Given the description of an element on the screen output the (x, y) to click on. 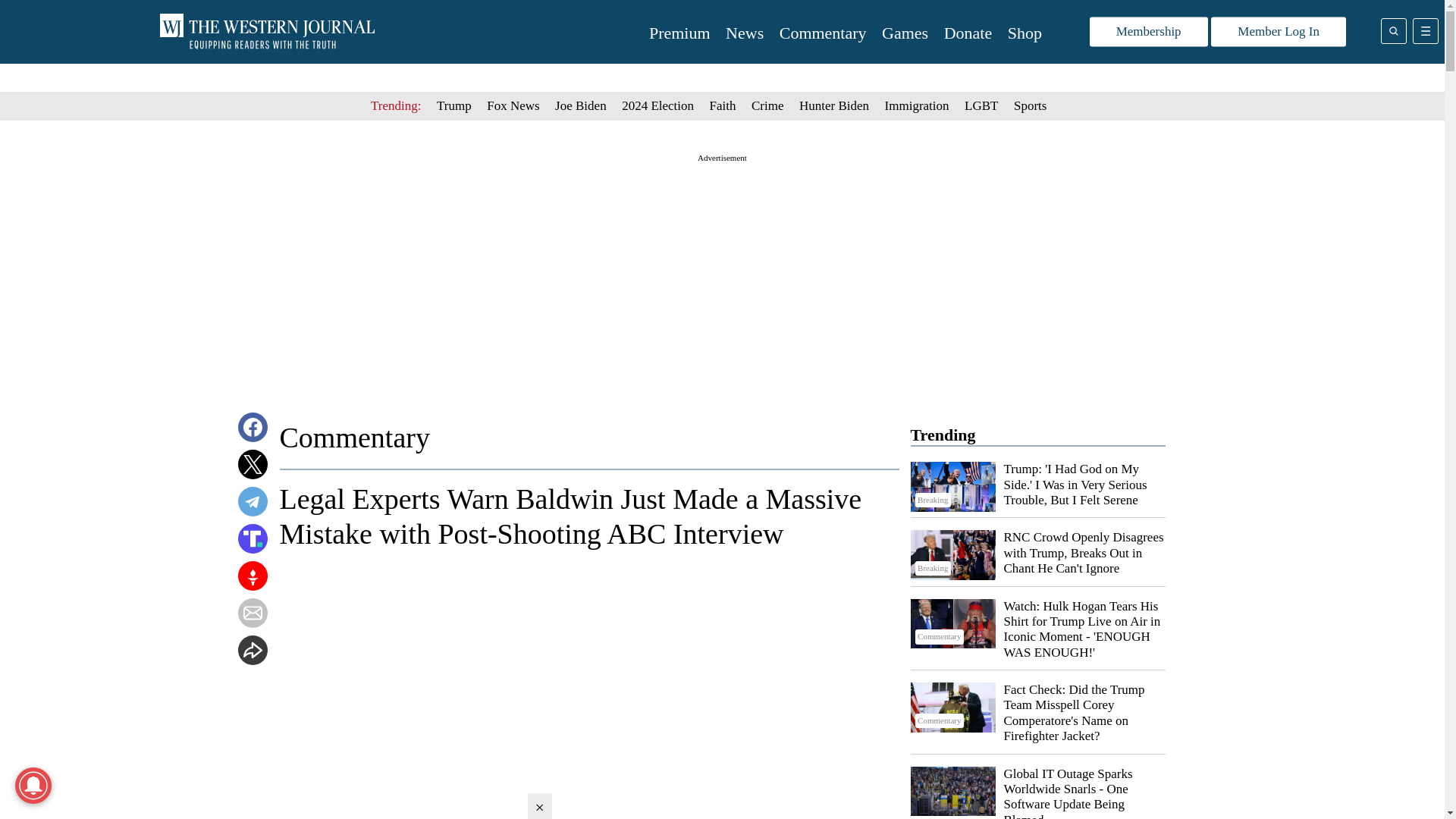
Donate (967, 32)
Breaking (952, 486)
Immigration (917, 105)
Joe Biden (580, 105)
2024 Election (657, 105)
Sports (1029, 105)
Crime (767, 105)
Games (905, 32)
Membership (1148, 31)
News (743, 32)
Trump (453, 105)
